Given the description of an element on the screen output the (x, y) to click on. 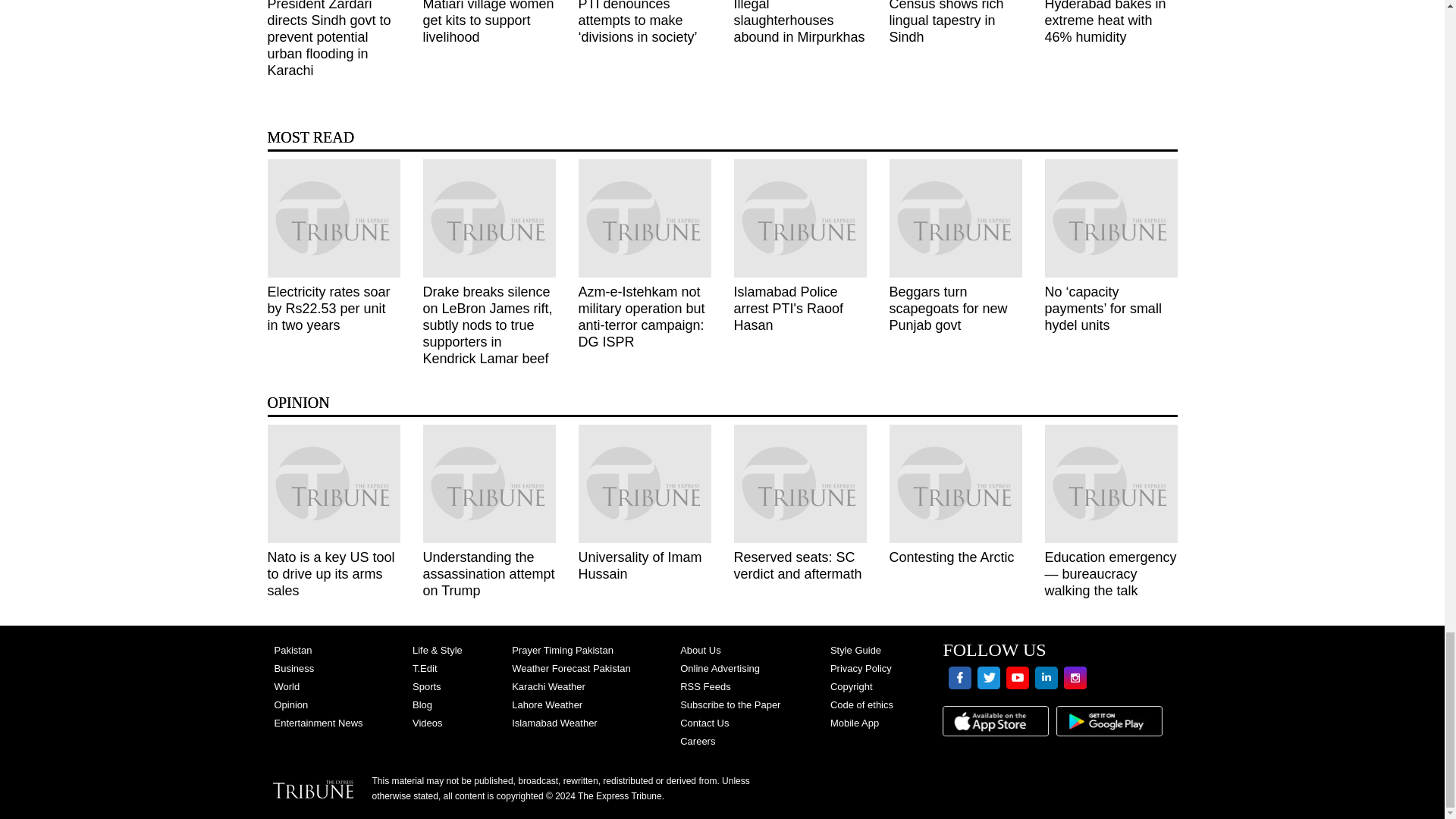
education emergency bureaucracy walking the talk (1111, 483)
nato is a key us tool to drive up its arms sales (332, 483)
islamabad police arrest pti s raoof hasan (799, 217)
electricity rates soar by rs22 53 per unit in two years (332, 217)
no capacity payments for small hydel units (1111, 217)
beggars turn scapegoats for new punjab govt (955, 217)
reserved seats sc verdict and aftermath (799, 483)
universality of imam hussain (644, 483)
understanding the assassination attempt on trump (489, 483)
contesting the arctic (955, 483)
